Given the description of an element on the screen output the (x, y) to click on. 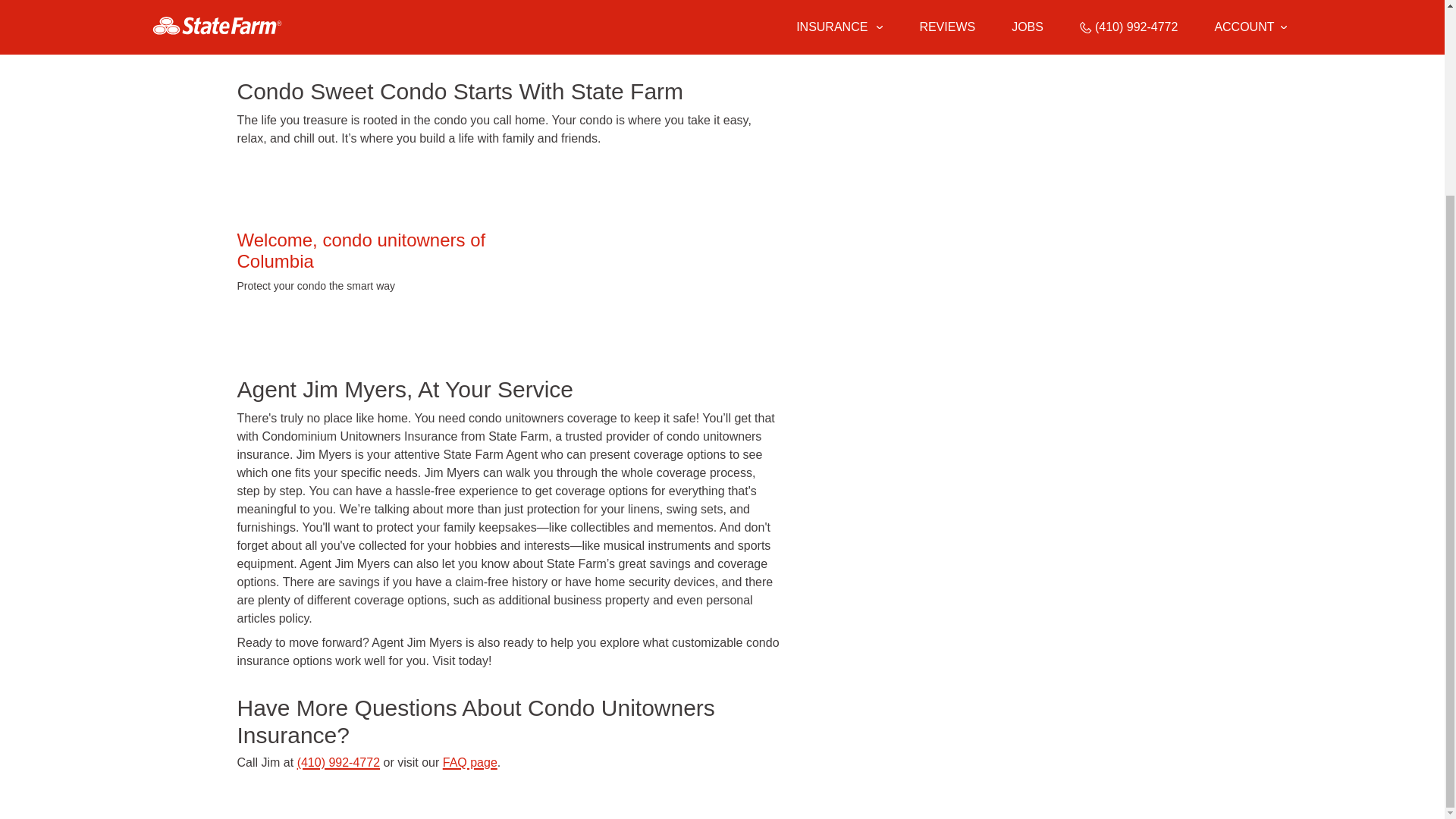
FAQ page (469, 762)
